Given the description of an element on the screen output the (x, y) to click on. 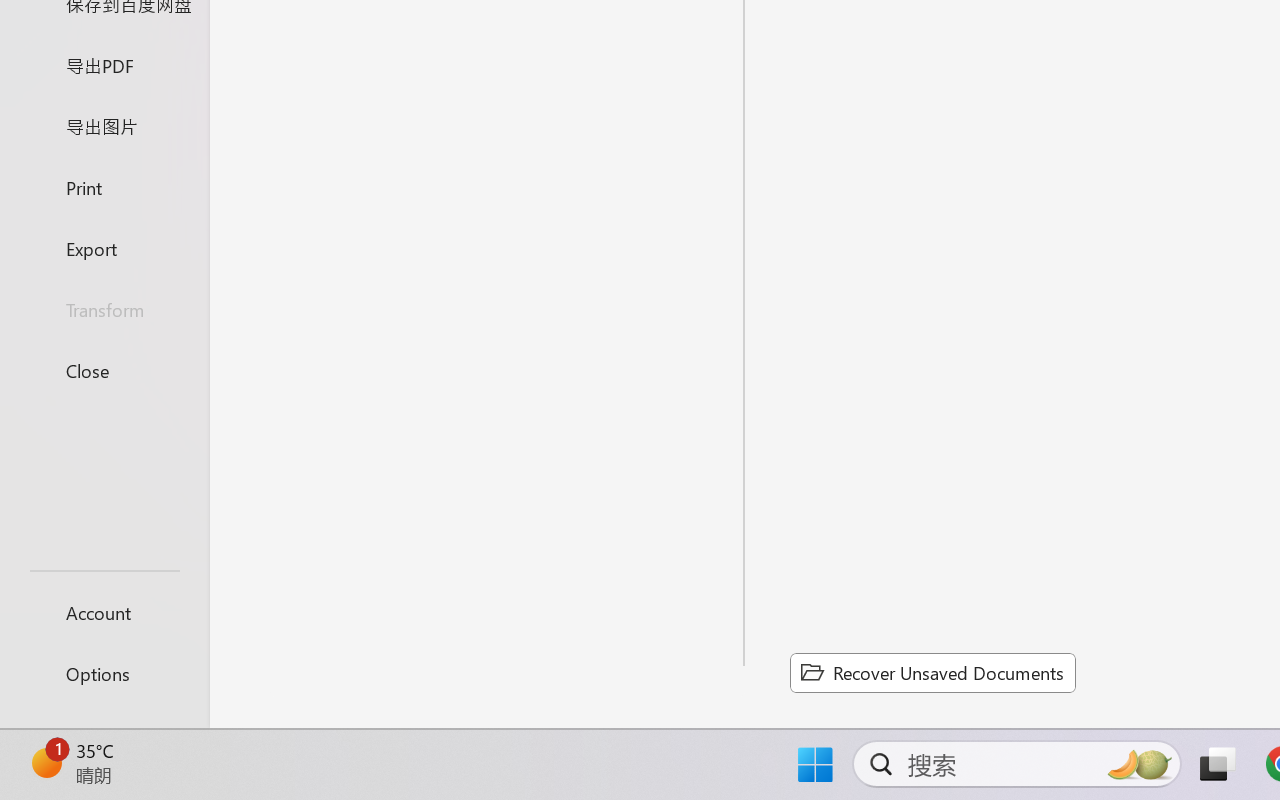
Print (104, 186)
Transform (104, 309)
Recover Unsaved Documents (932, 672)
Options (104, 673)
Account (104, 612)
Export (104, 248)
